Given the description of an element on the screen output the (x, y) to click on. 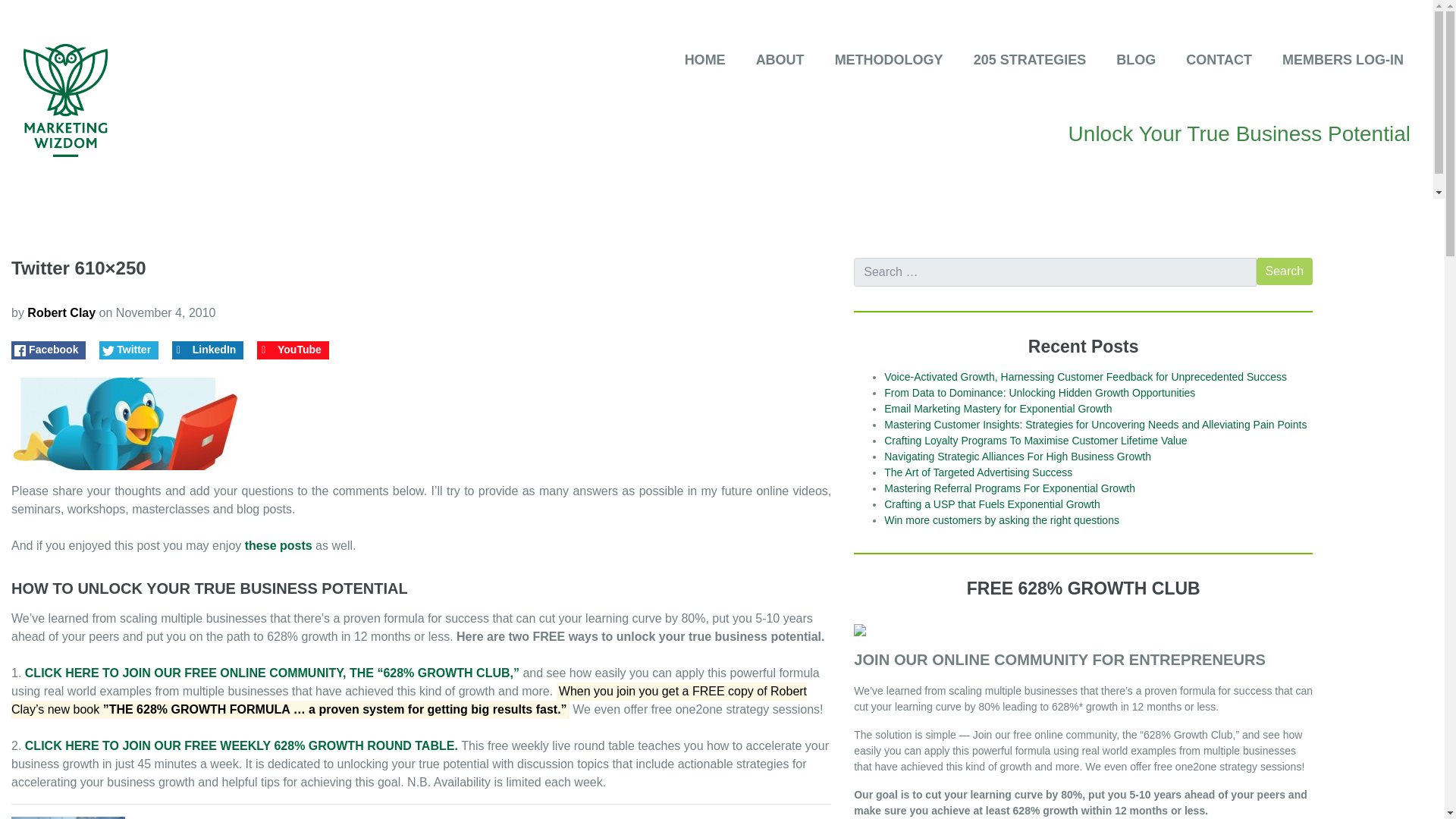
BLOG (1126, 60)
ABOUT (771, 60)
Search (1284, 271)
LinkedIn (207, 349)
205 STRATEGIES (1021, 60)
The Art of Targeted Advertising Success (977, 472)
Facebook (47, 349)
CONTACT (1209, 60)
BLOG (1126, 60)
Mastering Referral Programs For Exponential Growth (1009, 488)
